Given the description of an element on the screen output the (x, y) to click on. 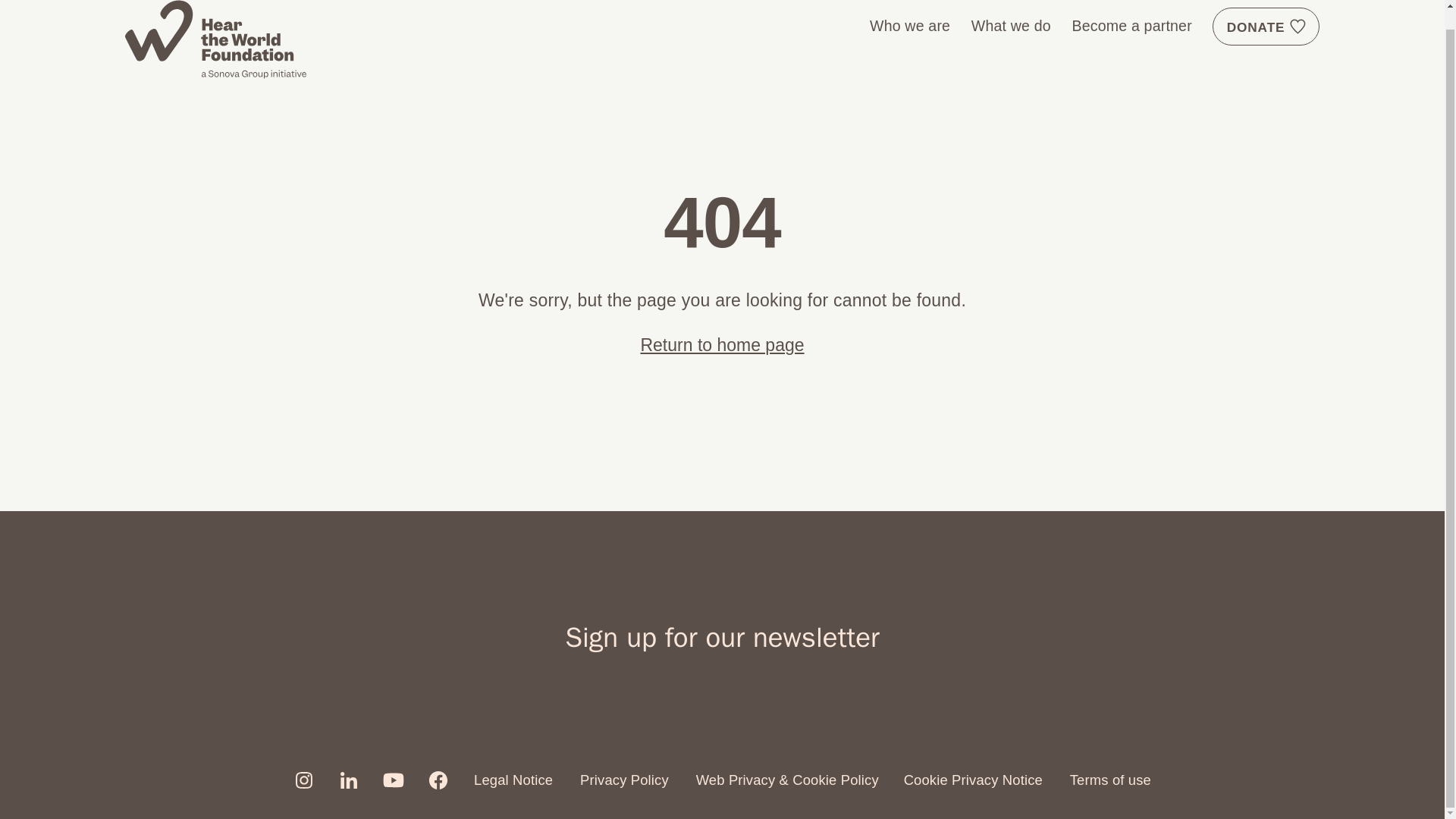
linkedin profile (348, 780)
Become a partner (1131, 25)
instagram profile (304, 780)
youtube profile (393, 780)
What we do (1011, 25)
Who we are (909, 25)
DONATE (1265, 25)
facebook profile (438, 780)
